Given the description of an element on the screen output the (x, y) to click on. 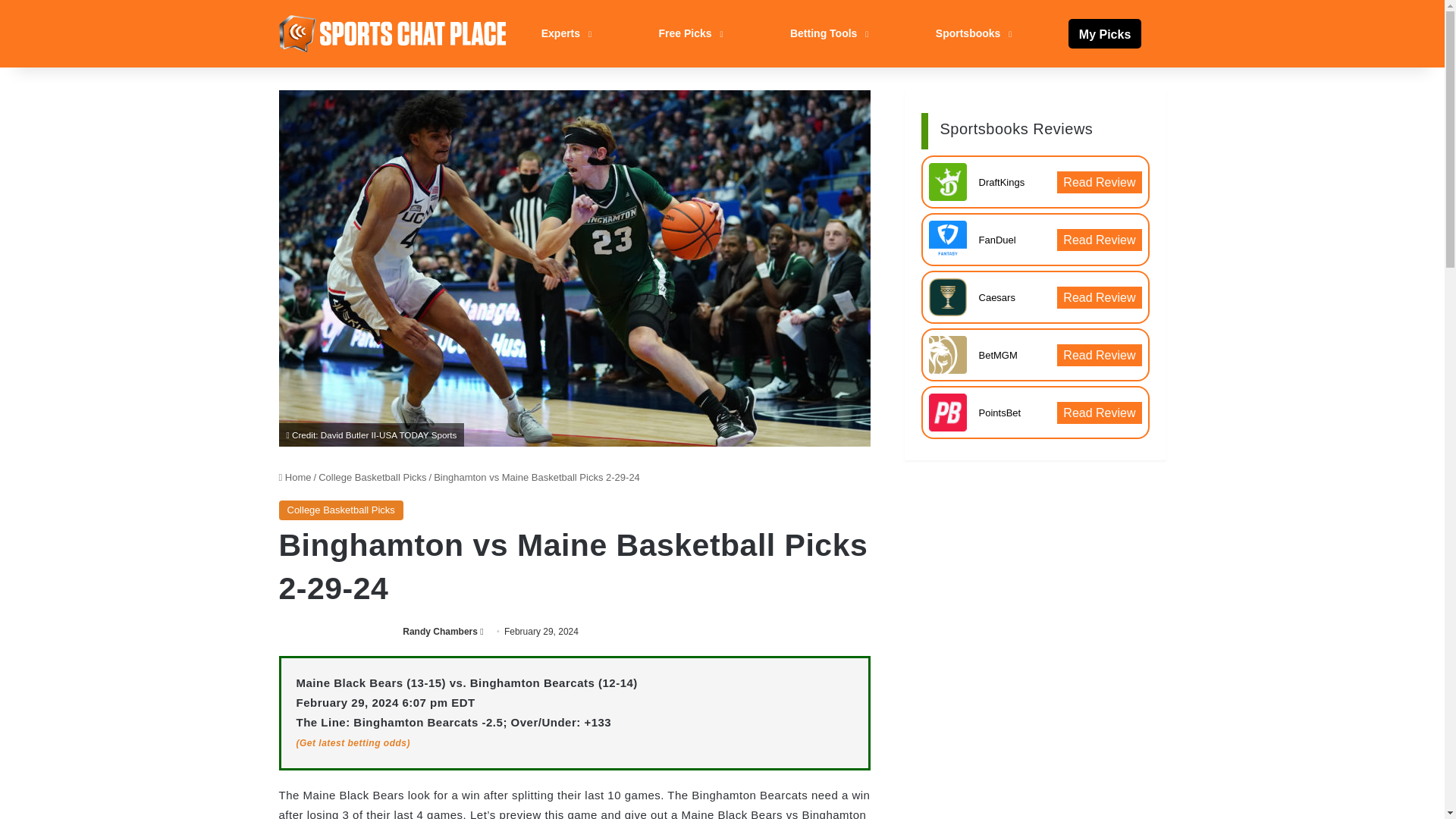
Sports Chat Place Picks, Betting News (392, 33)
Free Picks (688, 33)
Betting Tools (827, 33)
Experts (564, 33)
Randy Chambers (440, 631)
